Given the description of an element on the screen output the (x, y) to click on. 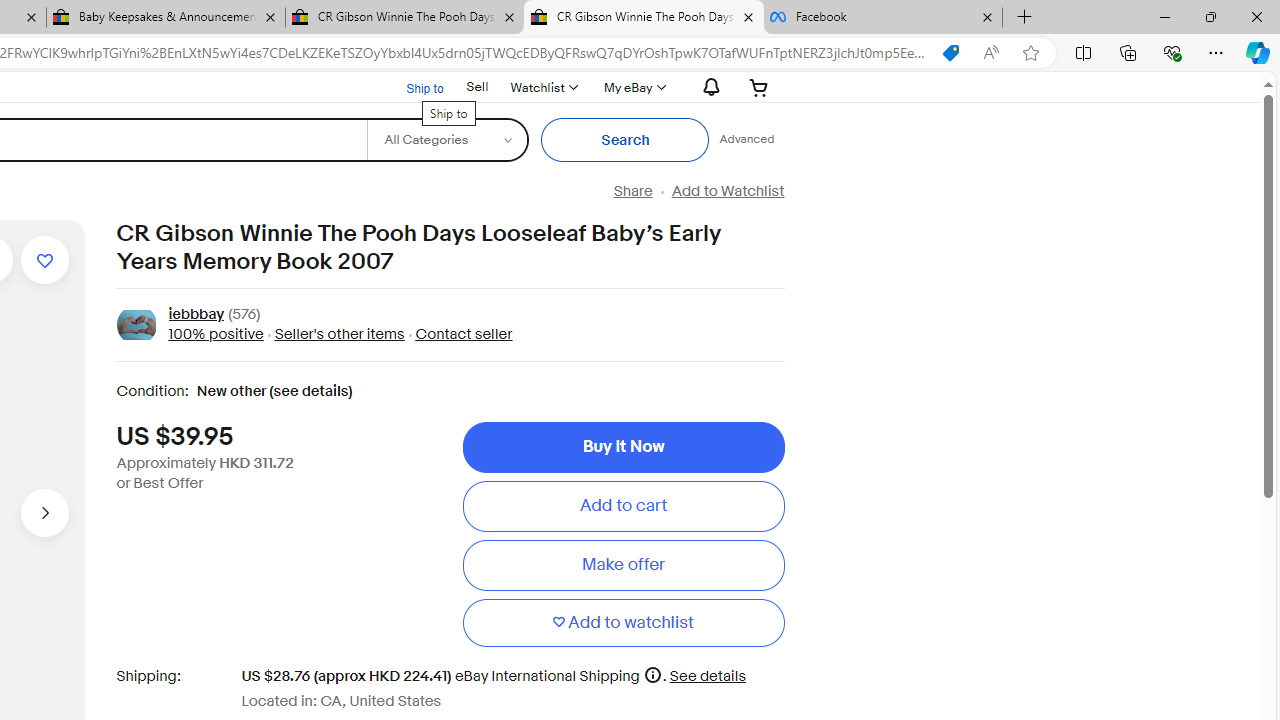
Facebook (883, 17)
